Given the description of an element on the screen output the (x, y) to click on. 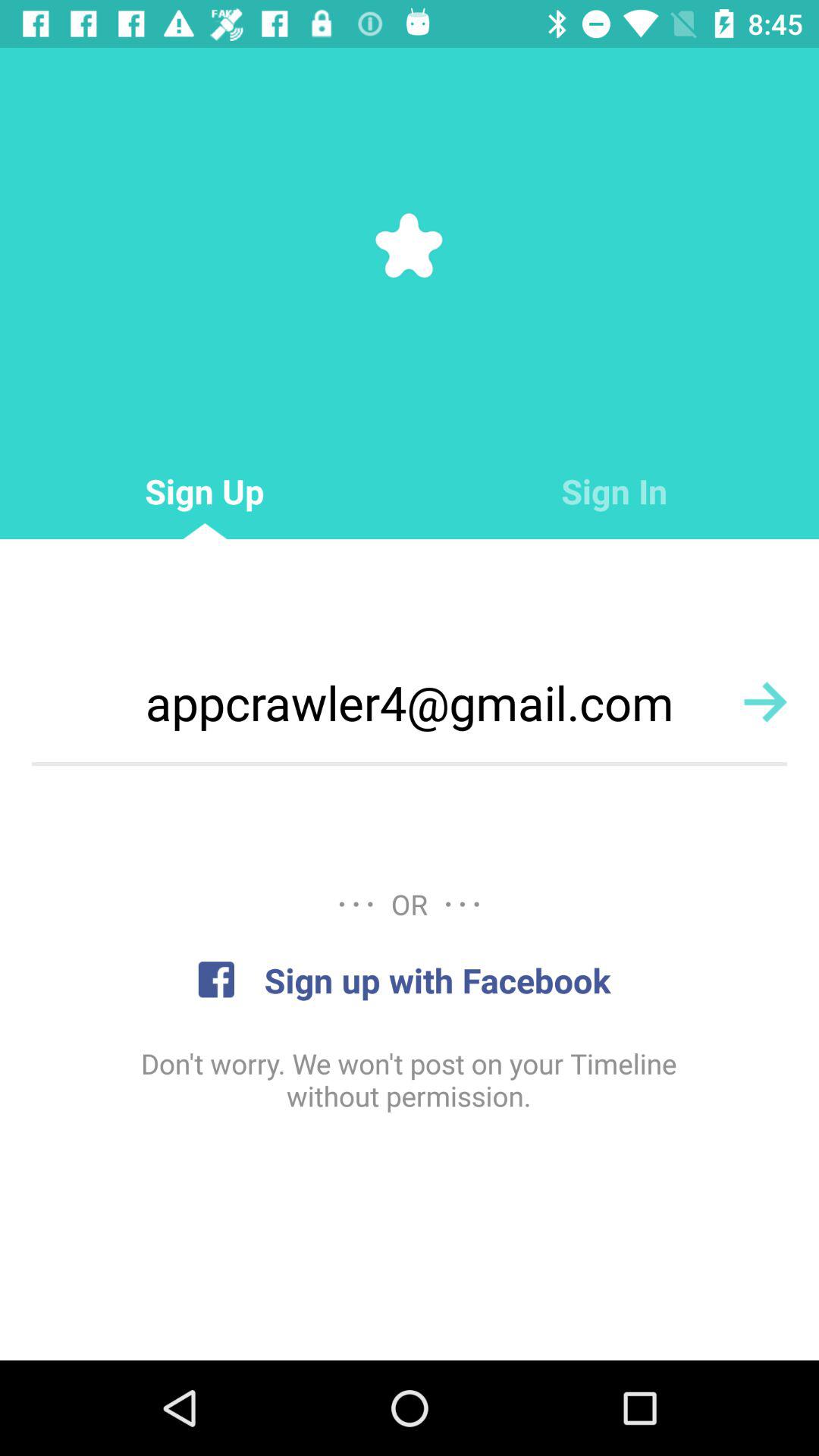
jump to appcrawler4@gmail.com icon (409, 702)
